Given the description of an element on the screen output the (x, y) to click on. 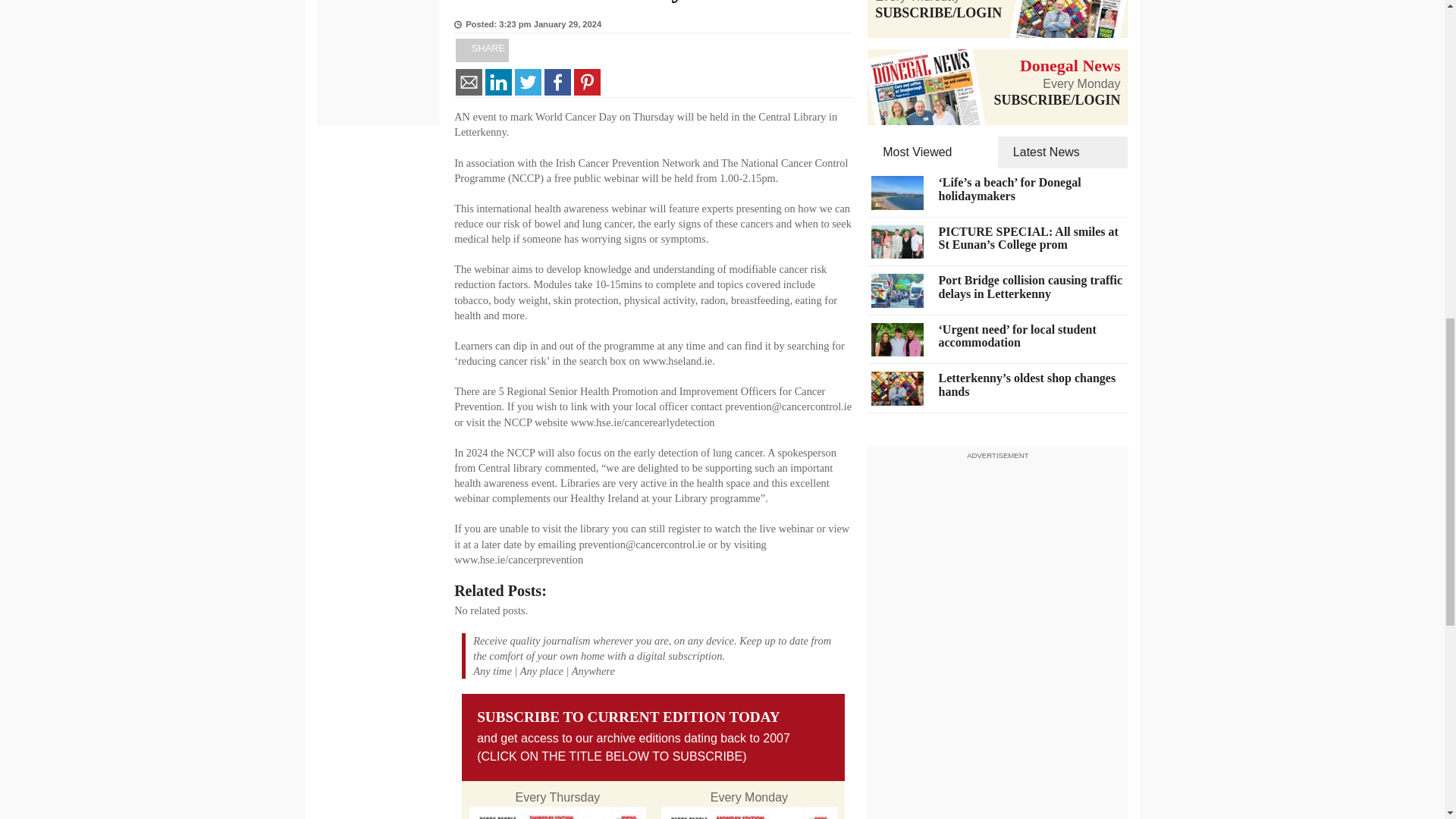
linkedin (498, 82)
email (468, 82)
twitter (528, 82)
facebook (557, 82)
pinterest (587, 82)
